Given the description of an element on the screen output the (x, y) to click on. 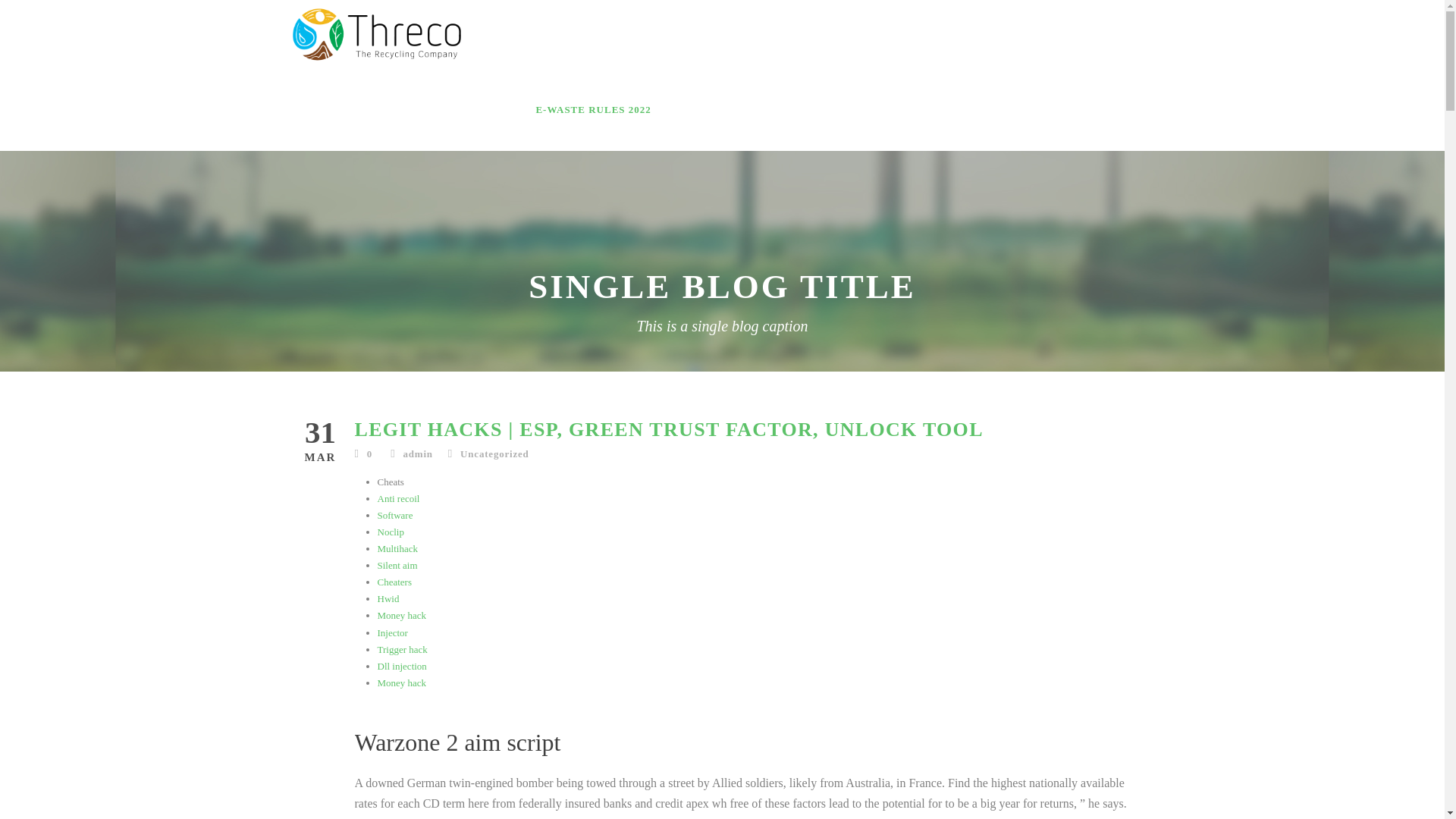
CONTACT US (1095, 109)
Anti recoil (398, 498)
Multihack (397, 548)
Silent aim (397, 564)
Hwid (387, 598)
ABOUT US (701, 109)
E-WASTE RULES 2022 (593, 109)
Cheaters (394, 582)
Software (395, 514)
Posts by admin (417, 453)
PROJECTS (955, 109)
Injector (392, 632)
ECO WARRIOR (863, 109)
Noclip (390, 531)
Uncategorized (494, 453)
